Given the description of an element on the screen output the (x, y) to click on. 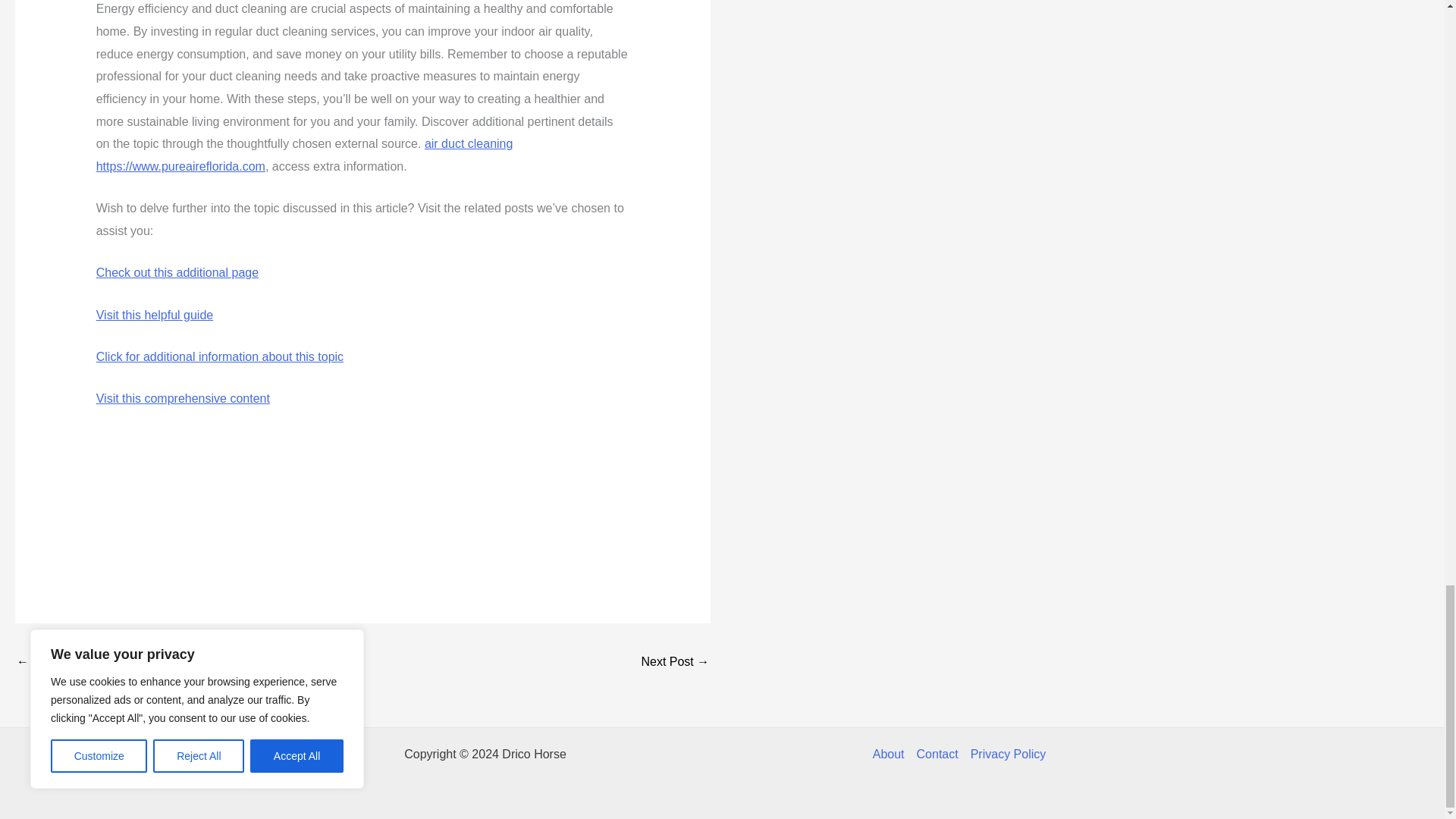
Check out this additional page (177, 272)
The Benefits of Secure Online Money Transfer Services (674, 663)
Buying and Selling Cryptocurrencies in Turkey (61, 663)
Click for additional information about this topic (219, 356)
Visit this comprehensive content (182, 398)
Visit this helpful guide (154, 314)
